Given the description of an element on the screen output the (x, y) to click on. 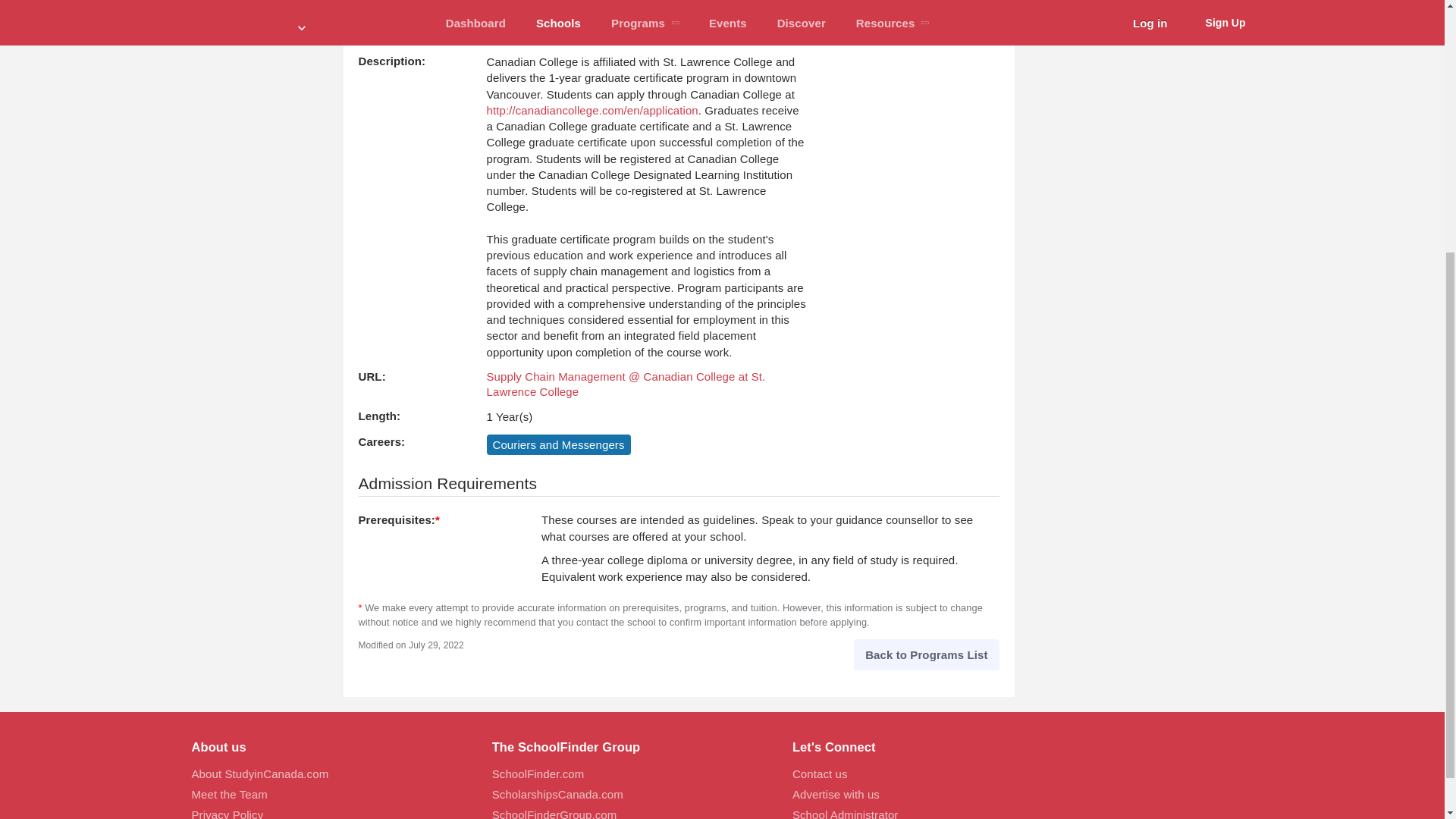
Back to Programs List (925, 654)
Couriers and Messengers (558, 444)
About StudyinCanada.com (259, 773)
